Given the description of an element on the screen output the (x, y) to click on. 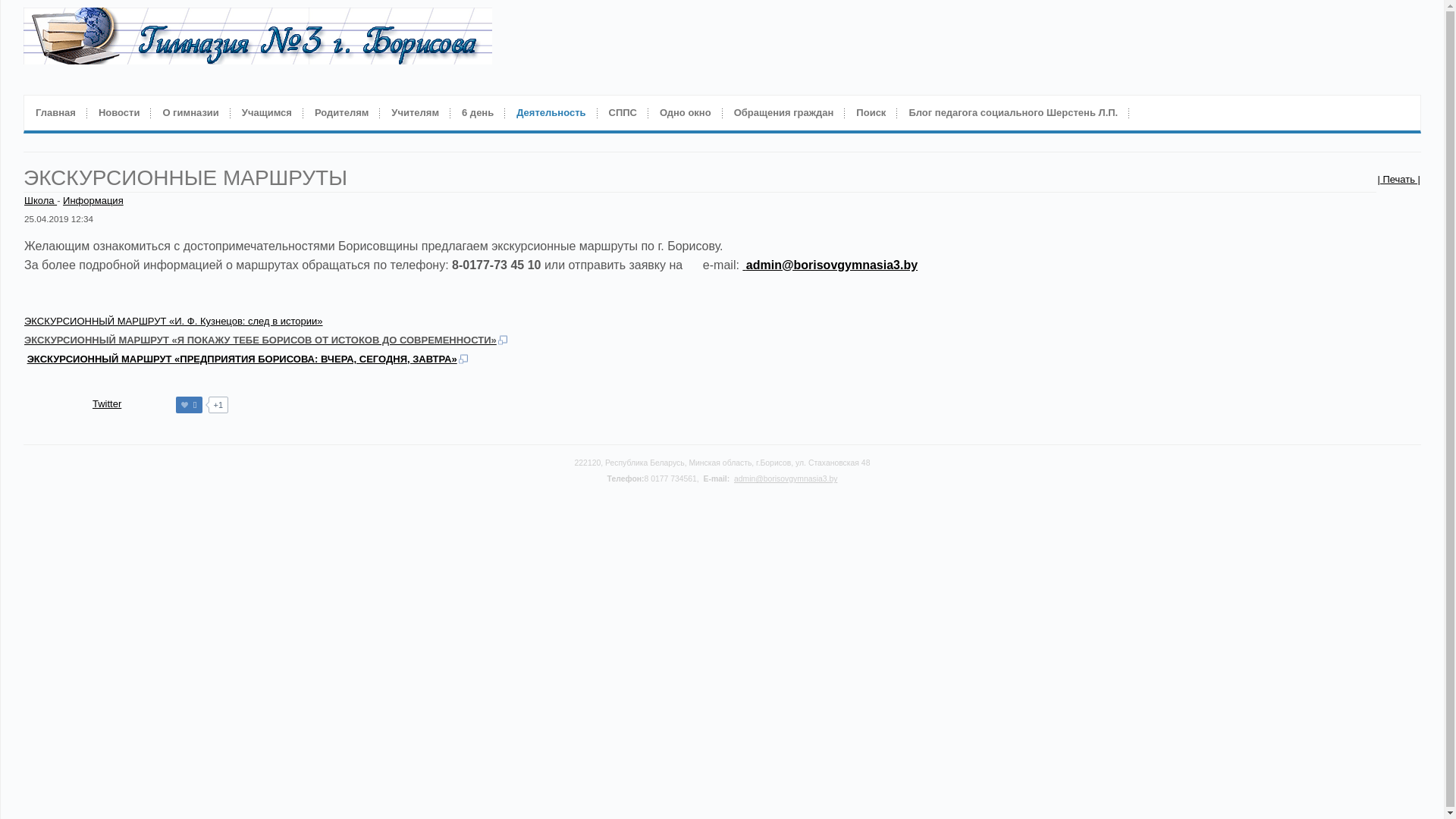
admin@borisovgymnasia3.by Element type: text (785, 478)
admin@borisovgymnasia3.by Element type: text (831, 264)
Twitter Element type: text (106, 403)
